Given the description of an element on the screen output the (x, y) to click on. 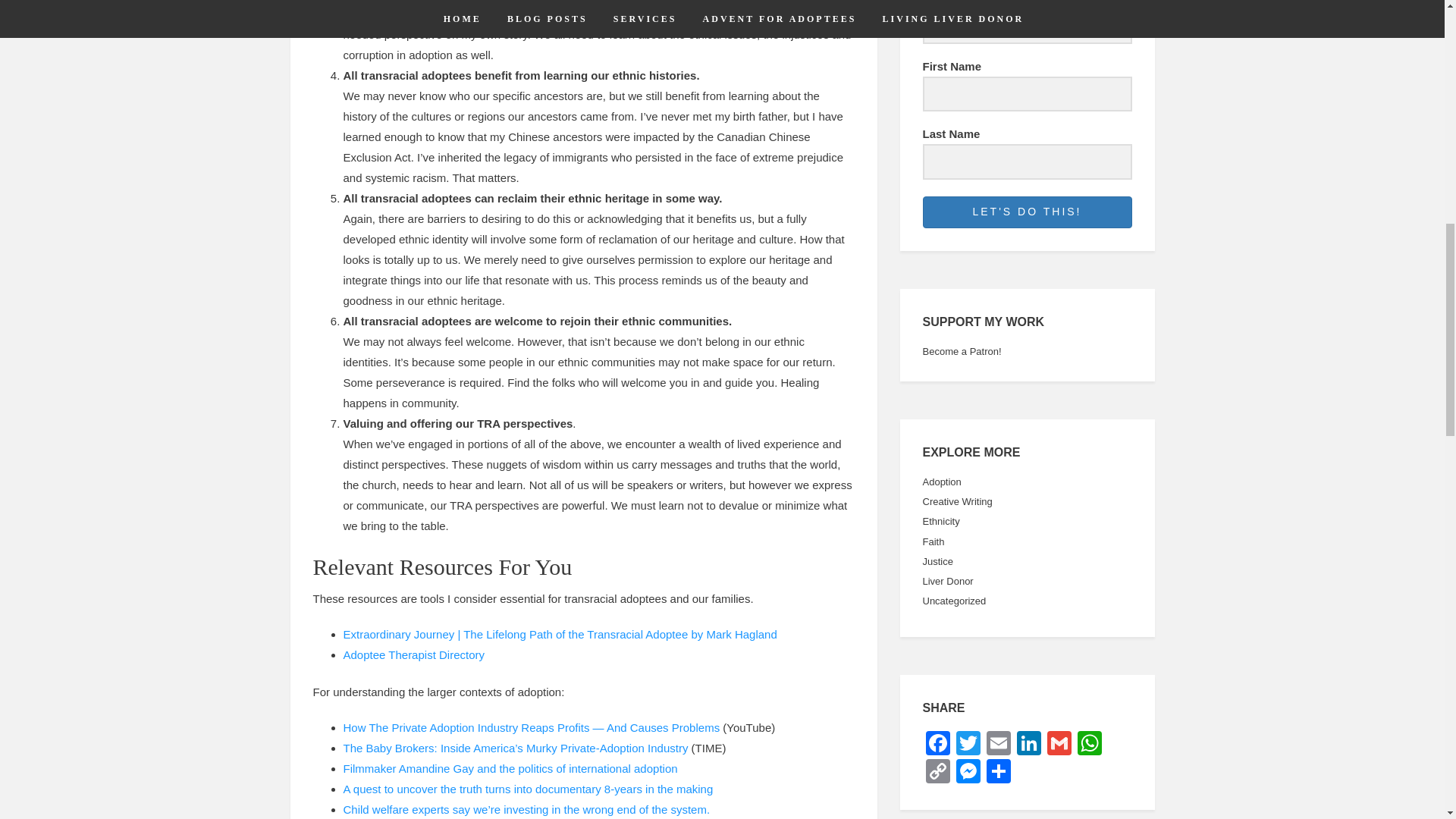
Adoptee Therapist Directory (412, 653)
